Given the description of an element on the screen output the (x, y) to click on. 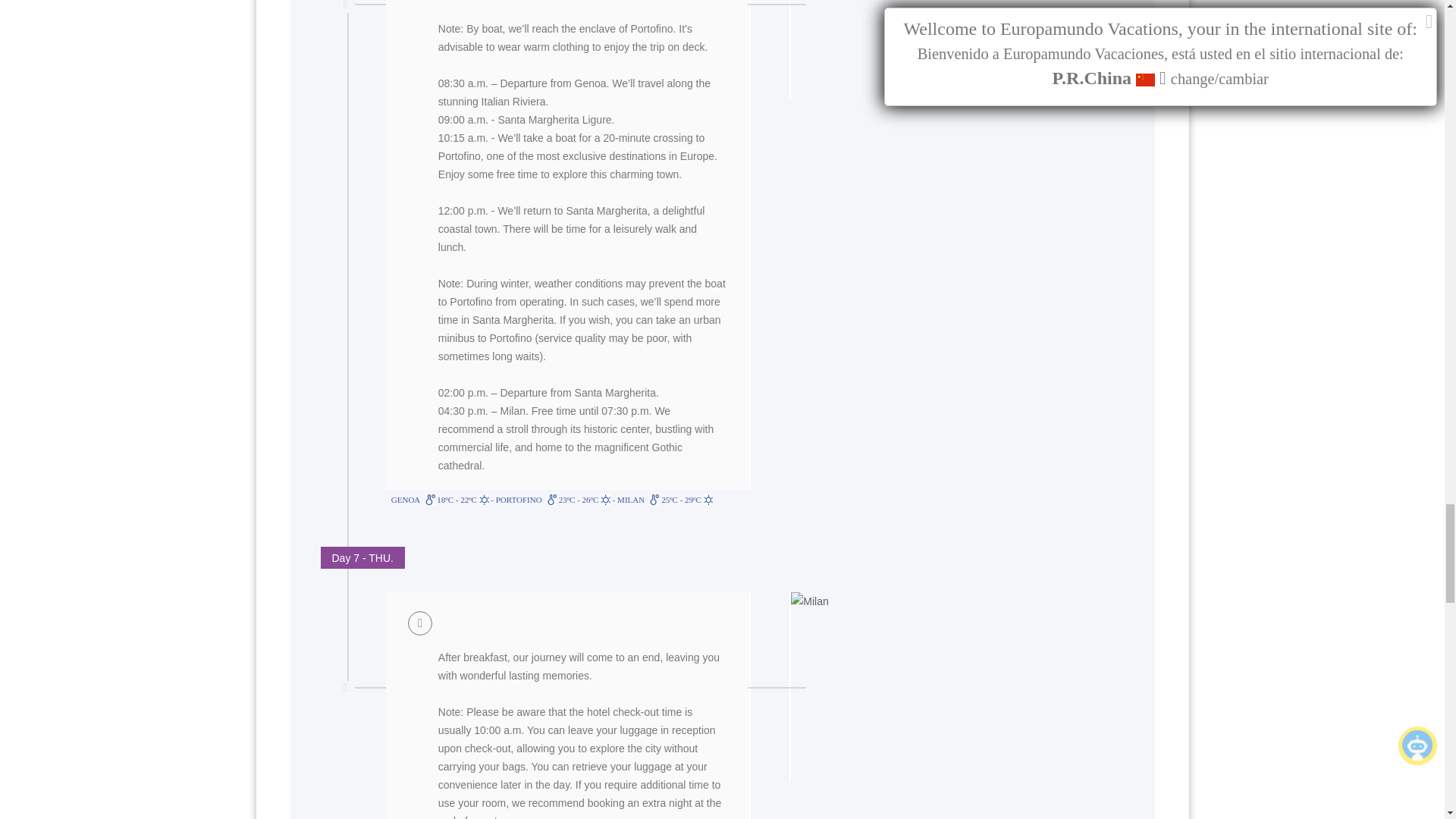
clear sky (484, 499)
clear sky (708, 499)
clear sky (604, 499)
